Given the description of an element on the screen output the (x, y) to click on. 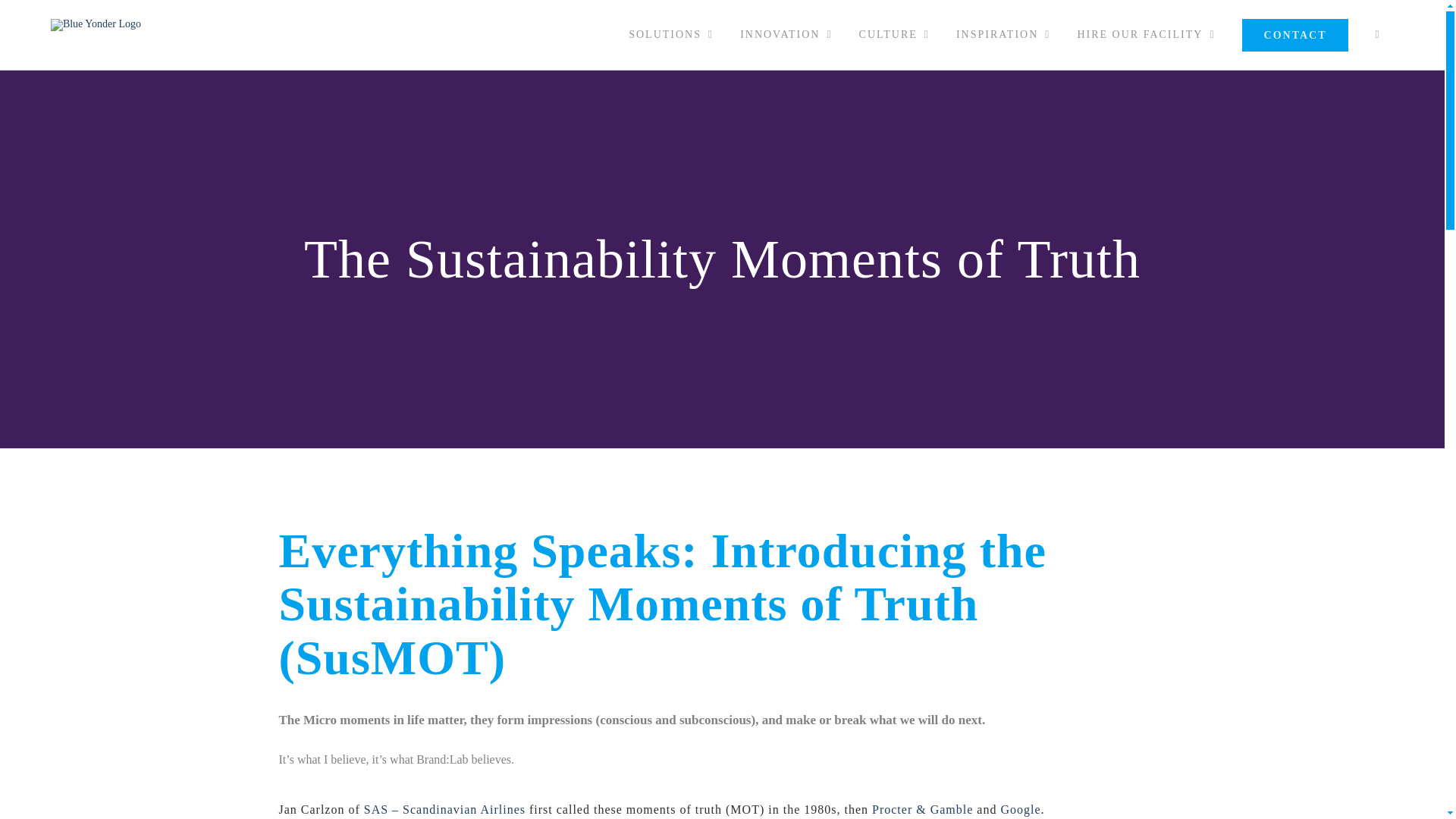
HIRE OUR FACILITY (1146, 34)
INSPIRATION (1002, 34)
CONTACT (1294, 34)
INNOVATION (785, 34)
CULTURE (893, 34)
SOLUTIONS (670, 34)
